Given the description of an element on the screen output the (x, y) to click on. 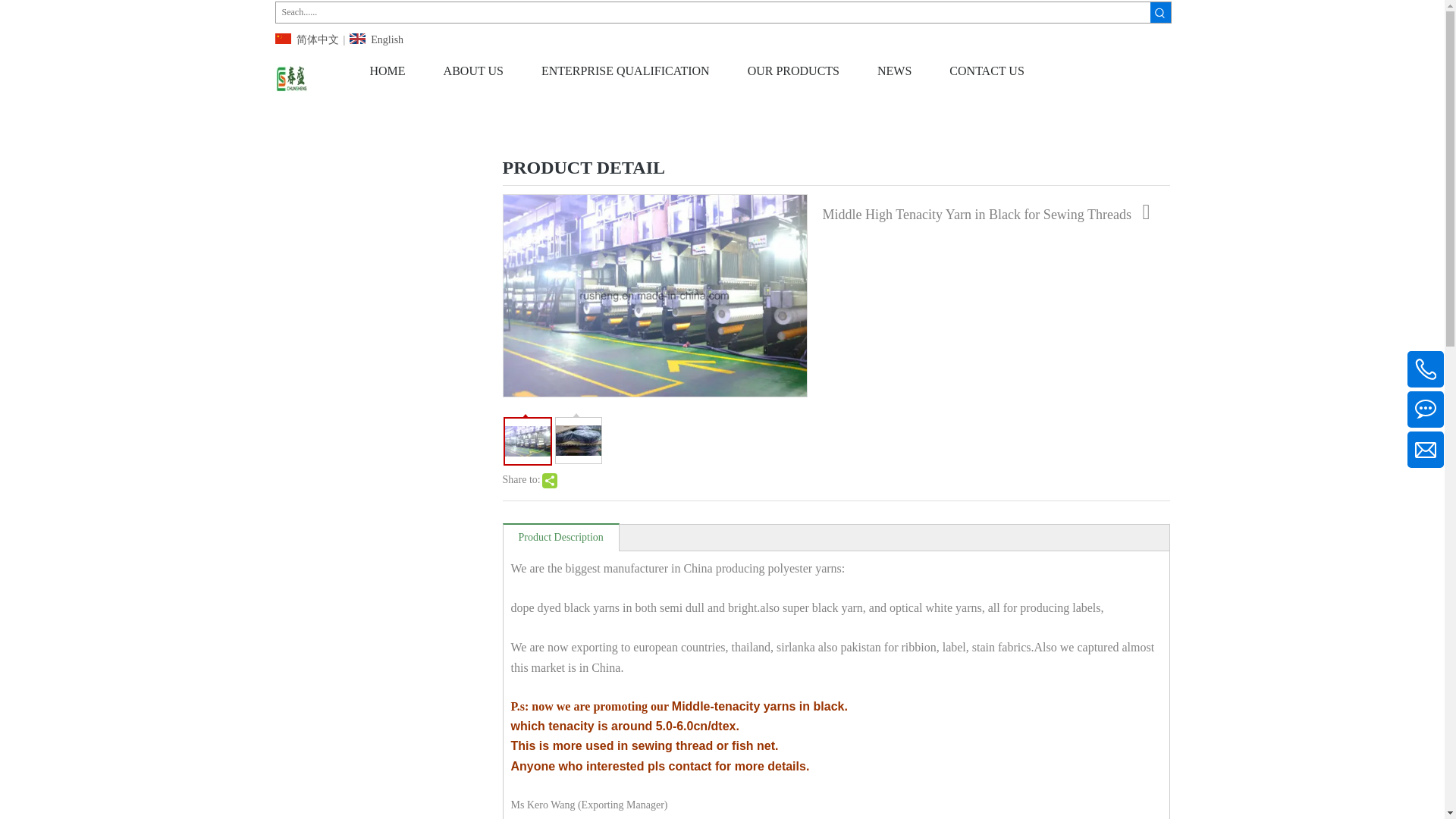
Product Description (561, 536)
CONTACT US (986, 71)
NEWS (894, 71)
ENTERPRISE QUALIFICATION (625, 71)
ABOUT US (473, 71)
HOME (386, 71)
OUR PRODUCTS (794, 71)
English (376, 40)
